Given the description of an element on the screen output the (x, y) to click on. 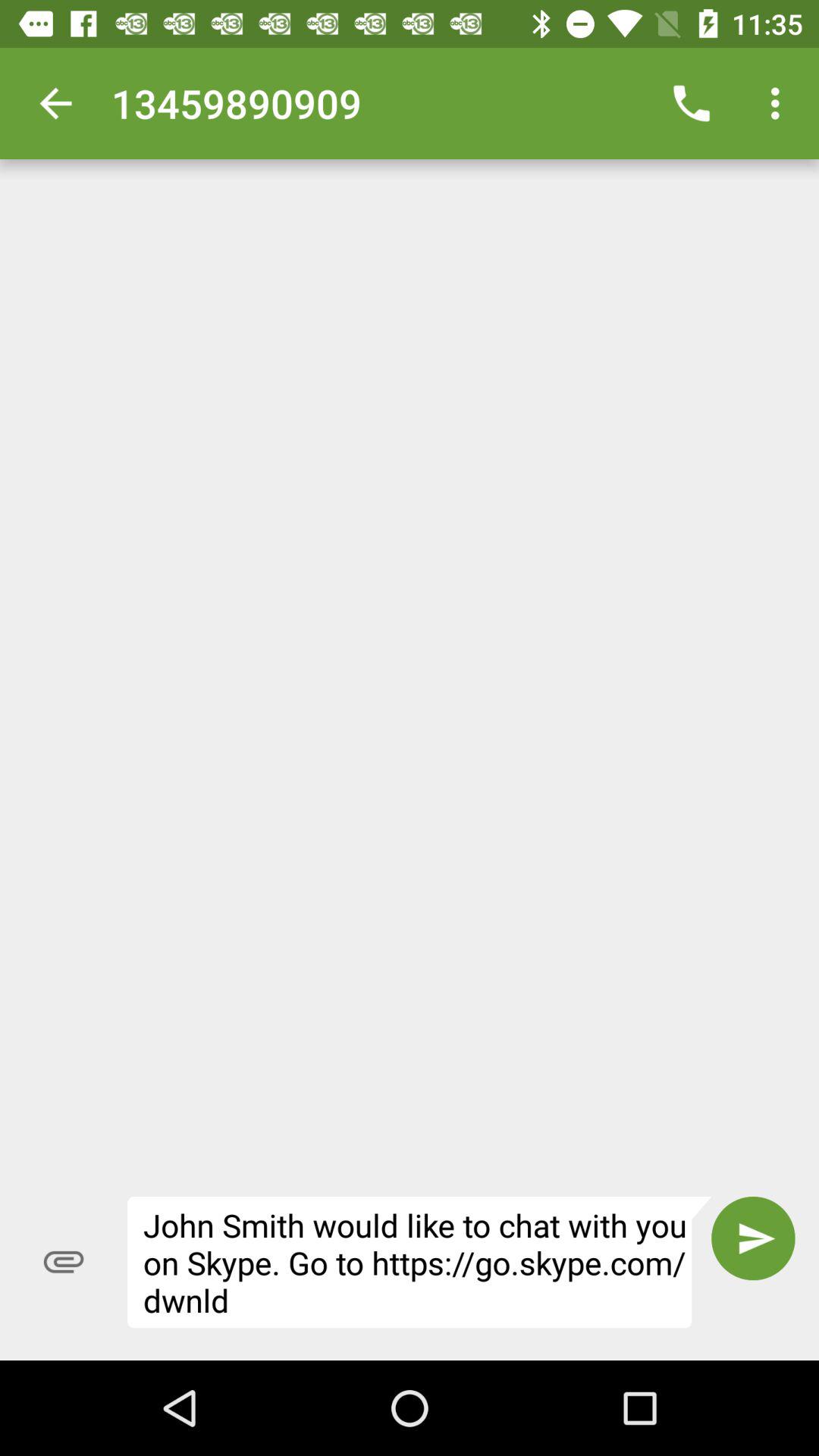
press icon next to 13459890909 icon (55, 103)
